Given the description of an element on the screen output the (x, y) to click on. 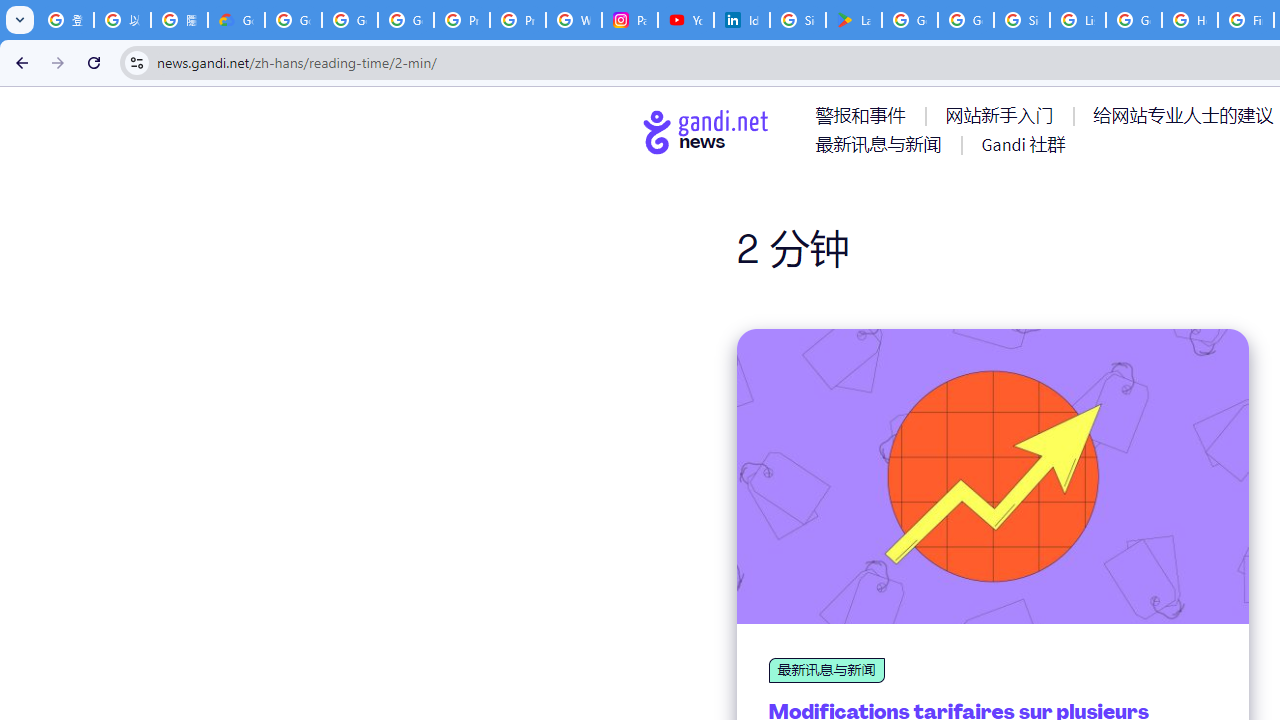
AutomationID: menu-item-77762 (1003, 115)
Sign in - Google Accounts (797, 20)
Last Shelter: Survival - Apps on Google Play (853, 20)
YouTube Culture & Trends - On The Rise: Handcam Videos (685, 20)
Privacy Help Center - Policies Help (461, 20)
